Given the description of an element on the screen output the (x, y) to click on. 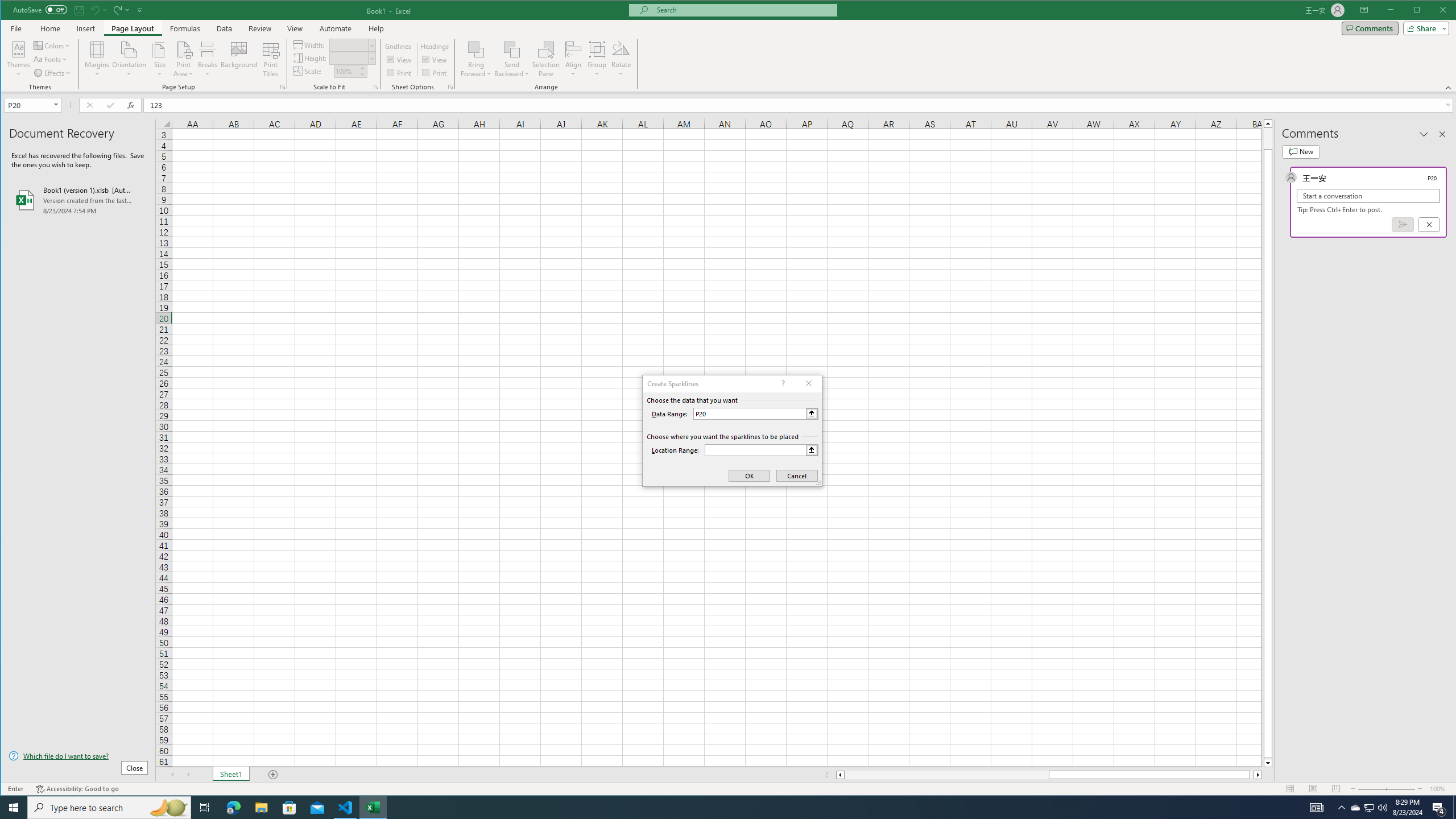
Scale (345, 71)
Selection Pane... (546, 59)
Align (573, 59)
Width (349, 45)
Bring Forward (476, 48)
Print Area (183, 59)
Bring Forward (476, 59)
